Given the description of an element on the screen output the (x, y) to click on. 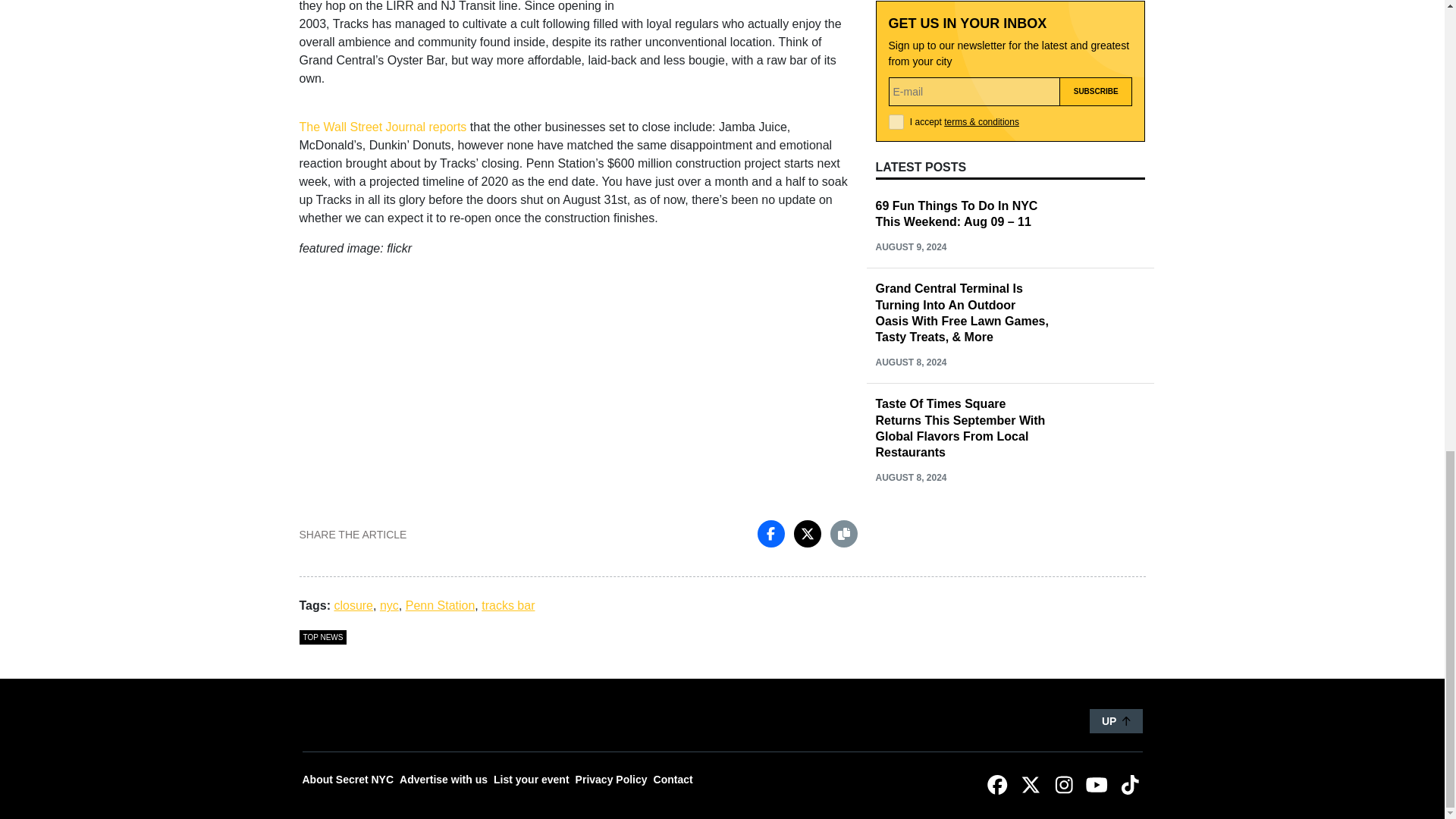
1 (896, 121)
The Wall Street Journal reports (381, 126)
Subscribe (1095, 91)
Subscribe (1095, 91)
AUGUST 8, 2024 (910, 477)
AUGUST 9, 2024 (910, 246)
AUGUST 8, 2024 (910, 362)
